Given the description of an element on the screen output the (x, y) to click on. 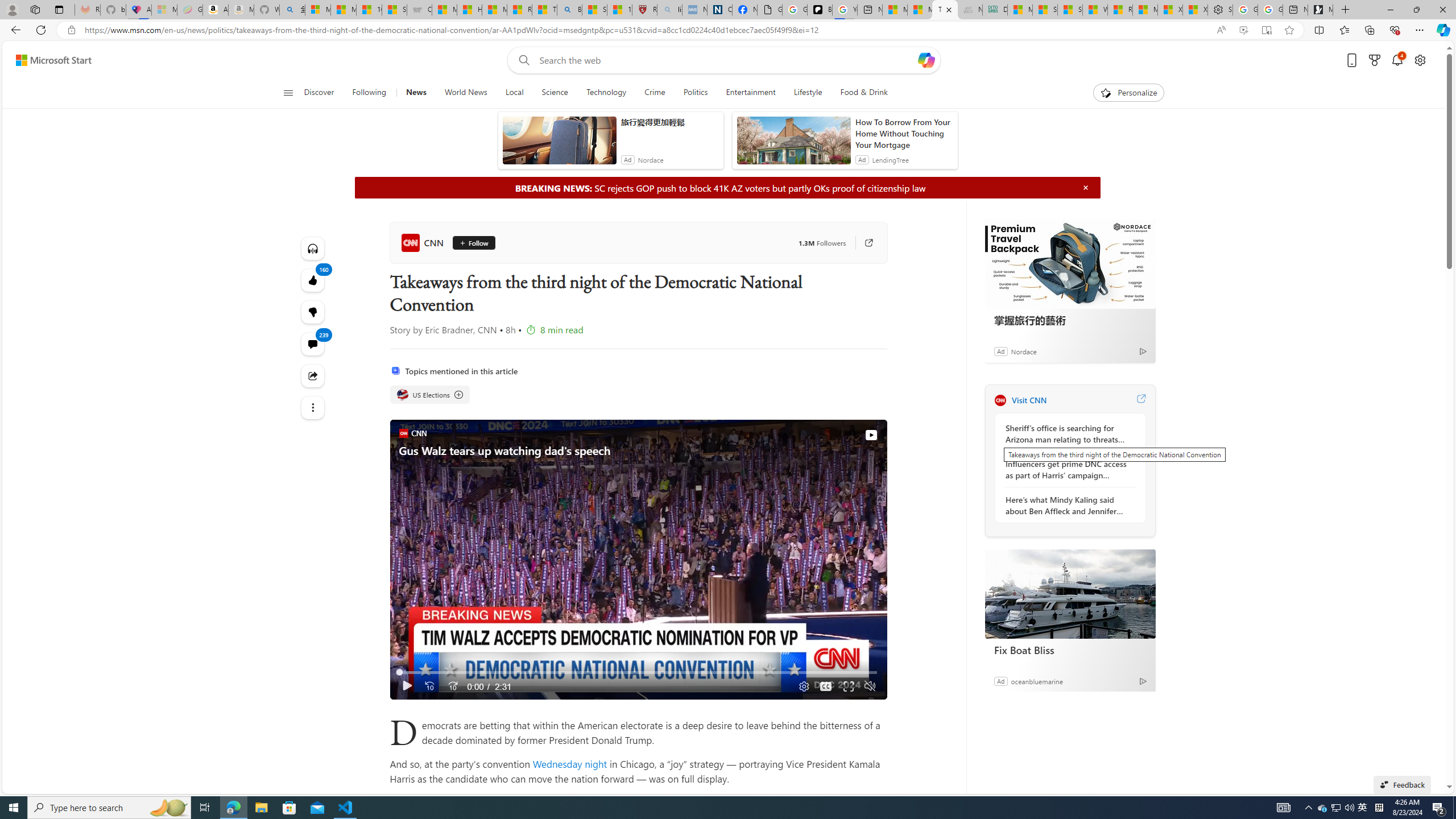
Entertainment (750, 92)
Enhance video (1243, 29)
160 Like (312, 279)
View on Watch View on Watch (844, 434)
Be Smart | creating Science videos | Patreon (819, 9)
Visit CNN website (1140, 399)
NCL Adult Asthma Inhaler Choice Guideline - Sleeping (694, 9)
Wednesday night (569, 762)
